Given the description of an element on the screen output the (x, y) to click on. 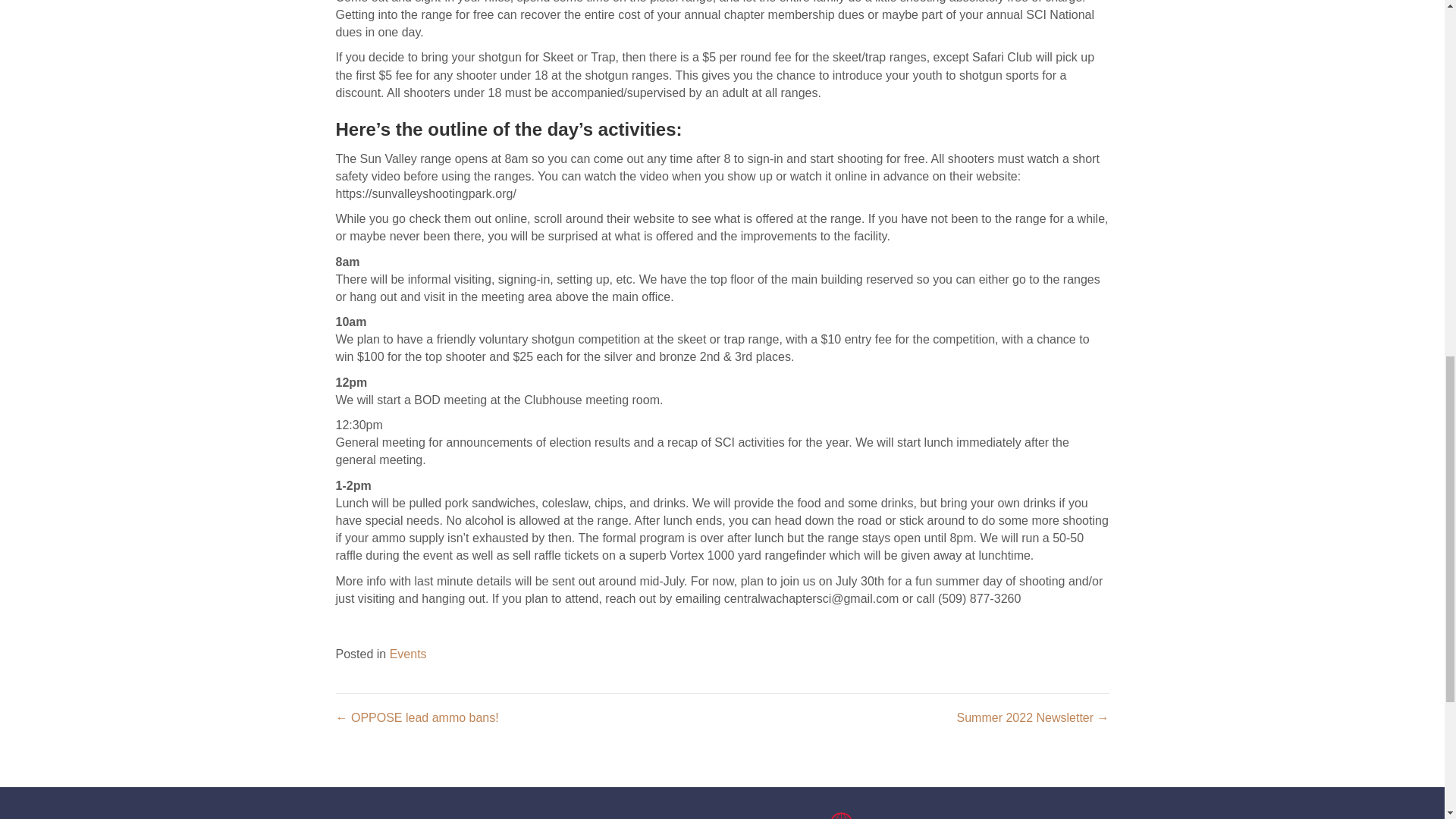
Events (408, 653)
sci logo (808, 815)
